Given the description of an element on the screen output the (x, y) to click on. 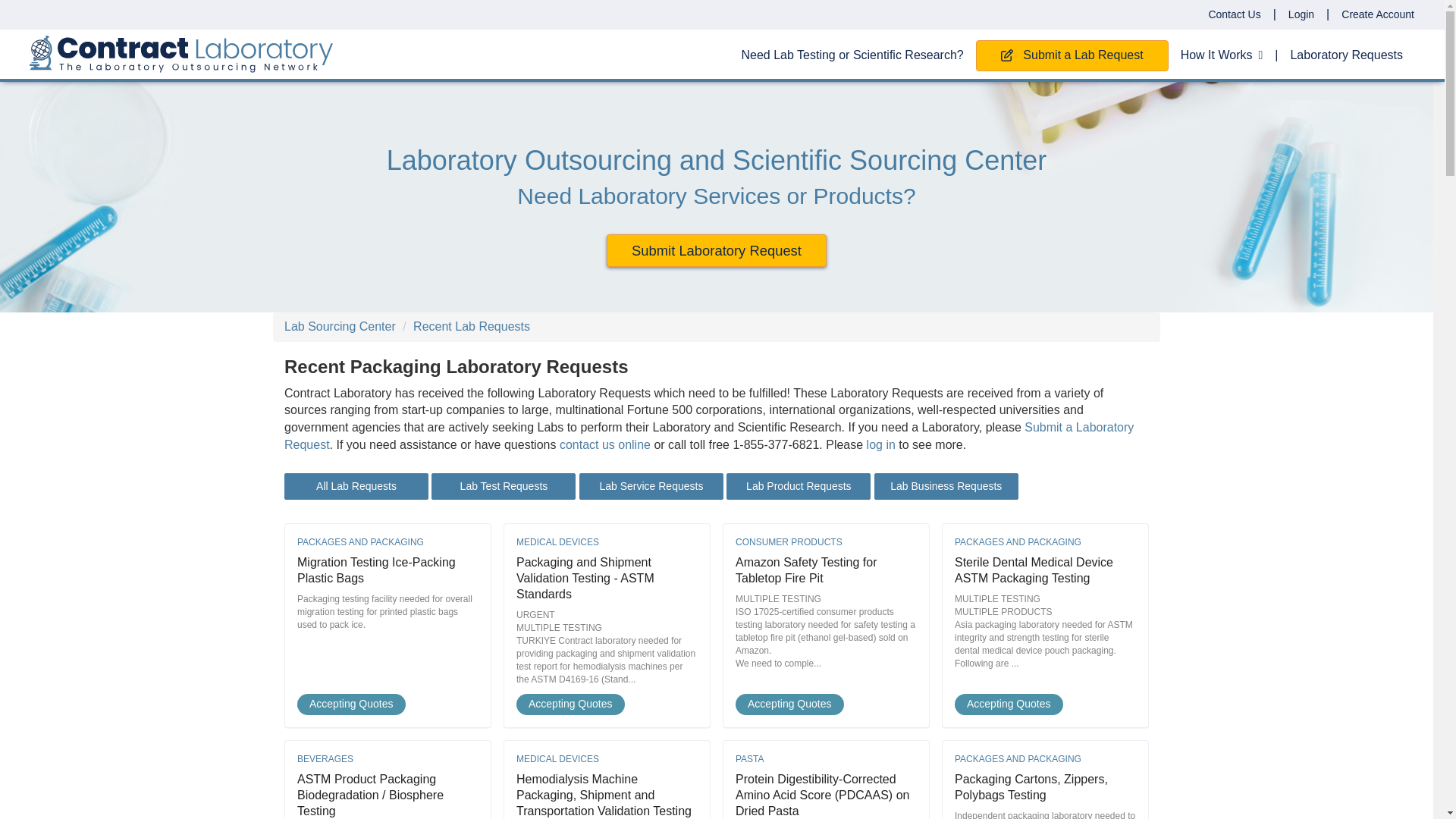
CONSUMER PRODUCTS (826, 542)
Submit a Lab Request (1072, 55)
BEVERAGES (388, 758)
Lab Test Requests (502, 486)
Accepting Quotes (606, 703)
Accepting Quotes (388, 703)
All Lab Requests (355, 486)
Login (1301, 14)
Submit a Laboratory Request (708, 435)
Lab Service Requests (651, 486)
Sterile Dental Medical Device ASTM Packaging Testing (1034, 570)
Accepting Quotes (1045, 703)
Submit Laboratory Request (717, 250)
PACKAGES AND PACKAGING (388, 542)
Amazon Safety Testing for Tabletop Fire Pit (805, 570)
